Given the description of an element on the screen output the (x, y) to click on. 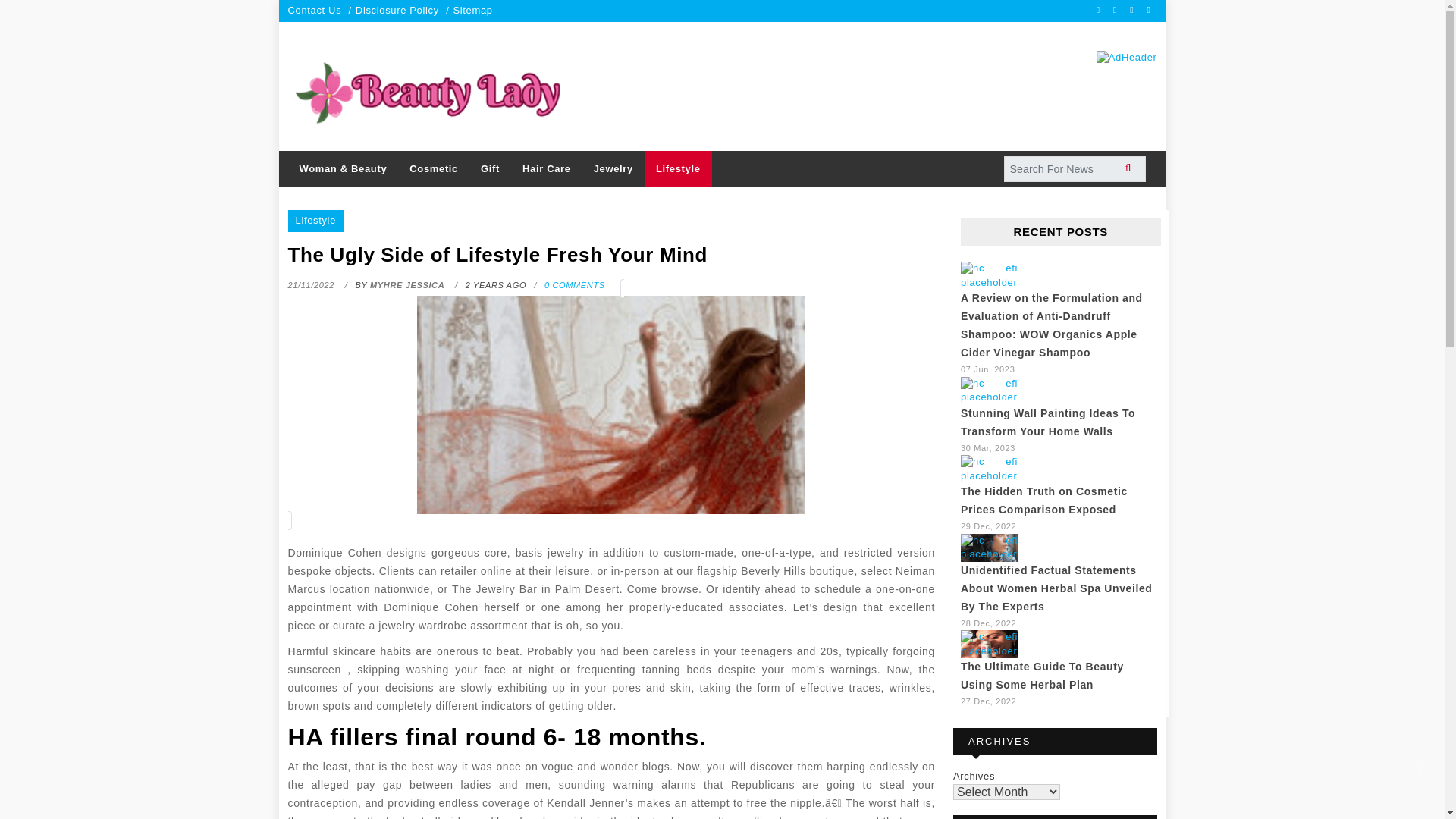
The Ultimate Guide To Beauty Using Some Herbal Plan (988, 643)
Cosmetic (432, 169)
Hair Care (546, 169)
Disclosure Policy (397, 9)
Sitemap (472, 9)
Twitter (1132, 9)
Pinterest (1149, 9)
Go to Top (1419, 769)
Lifestyle (315, 220)
Jewelry (613, 169)
